Given the description of an element on the screen output the (x, y) to click on. 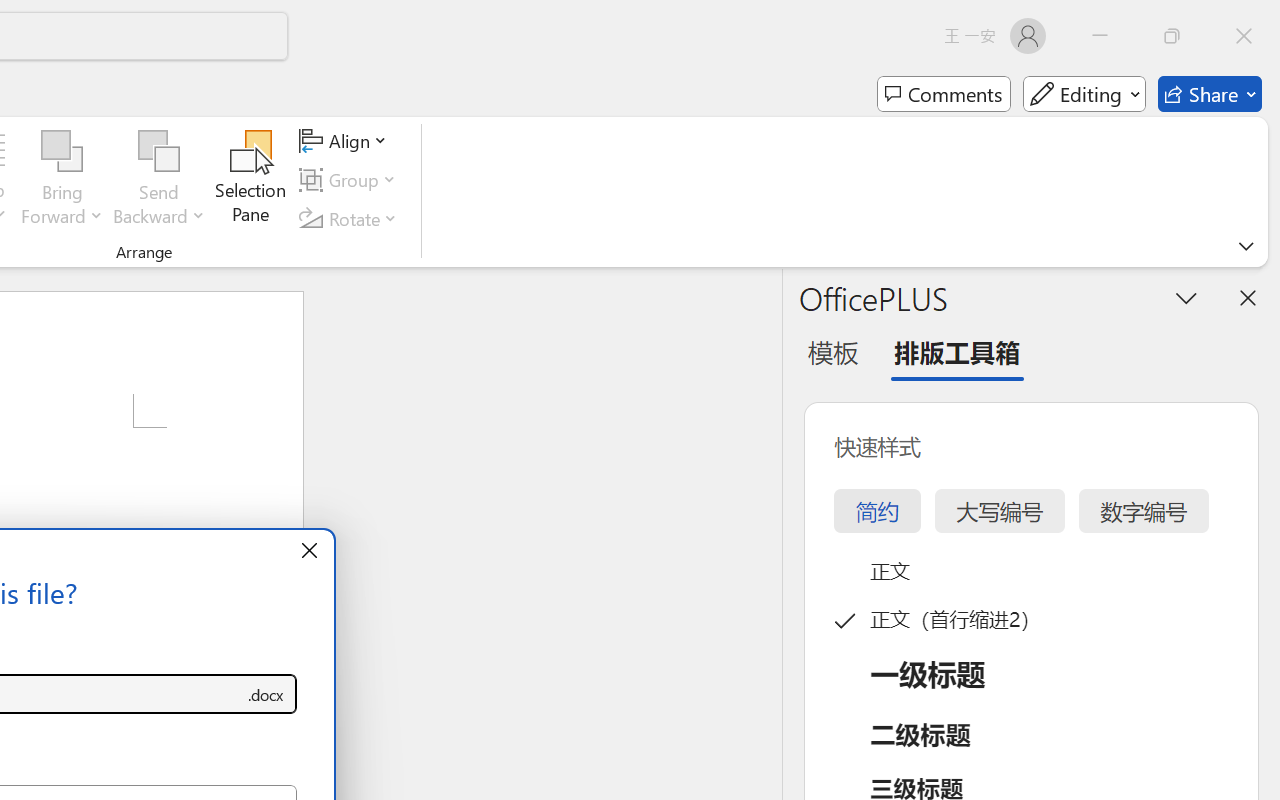
Selection Pane... (251, 179)
Send Backward (159, 151)
Bring Forward (62, 179)
Save as type (265, 694)
Bring Forward (62, 151)
Rotate (351, 218)
